Given the description of an element on the screen output the (x, y) to click on. 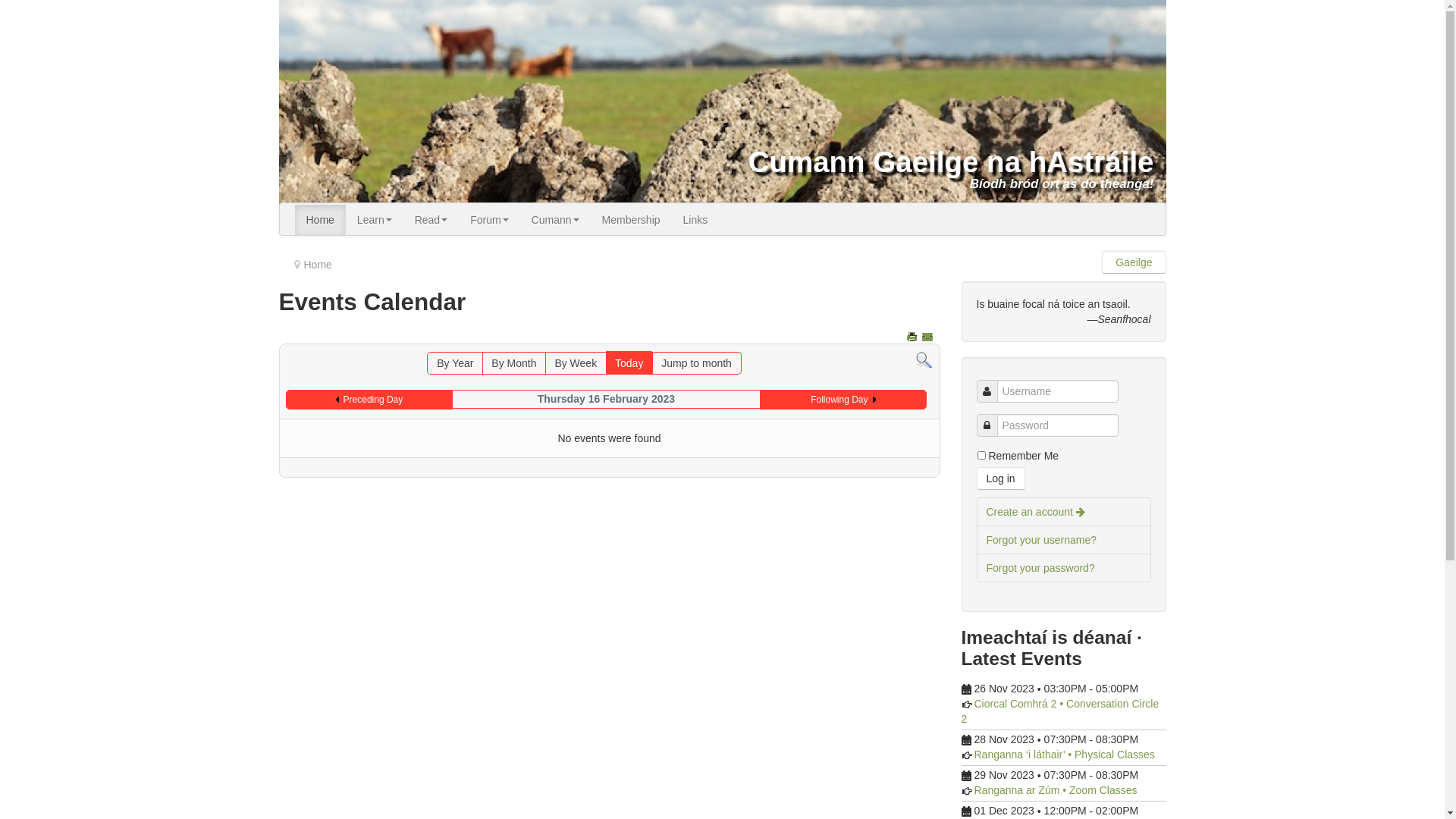
By Week Element type: text (575, 362)
Links Element type: text (695, 219)
Search Element type: hover (923, 359)
Jump to month Element type: text (696, 362)
Forum Element type: text (488, 219)
Preceding Day Element type: text (369, 399)
Today Element type: text (628, 362)
By Year Element type: text (454, 362)
Gaeilge Element type: text (1133, 262)
Following Day Element type: text (842, 399)
Cumann Element type: text (555, 219)
Print Element type: hover (912, 336)
Forgot your username? Element type: text (1063, 539)
Home Element type: text (319, 219)
Forgot your password? Element type: text (1063, 567)
Read Element type: text (430, 219)
Membership Element type: text (630, 219)
Create an account Element type: text (1063, 511)
Log in Element type: text (1000, 478)
EMAIL Element type: hover (928, 336)
By Month Element type: text (513, 362)
Learn Element type: text (374, 219)
